Given the description of an element on the screen output the (x, y) to click on. 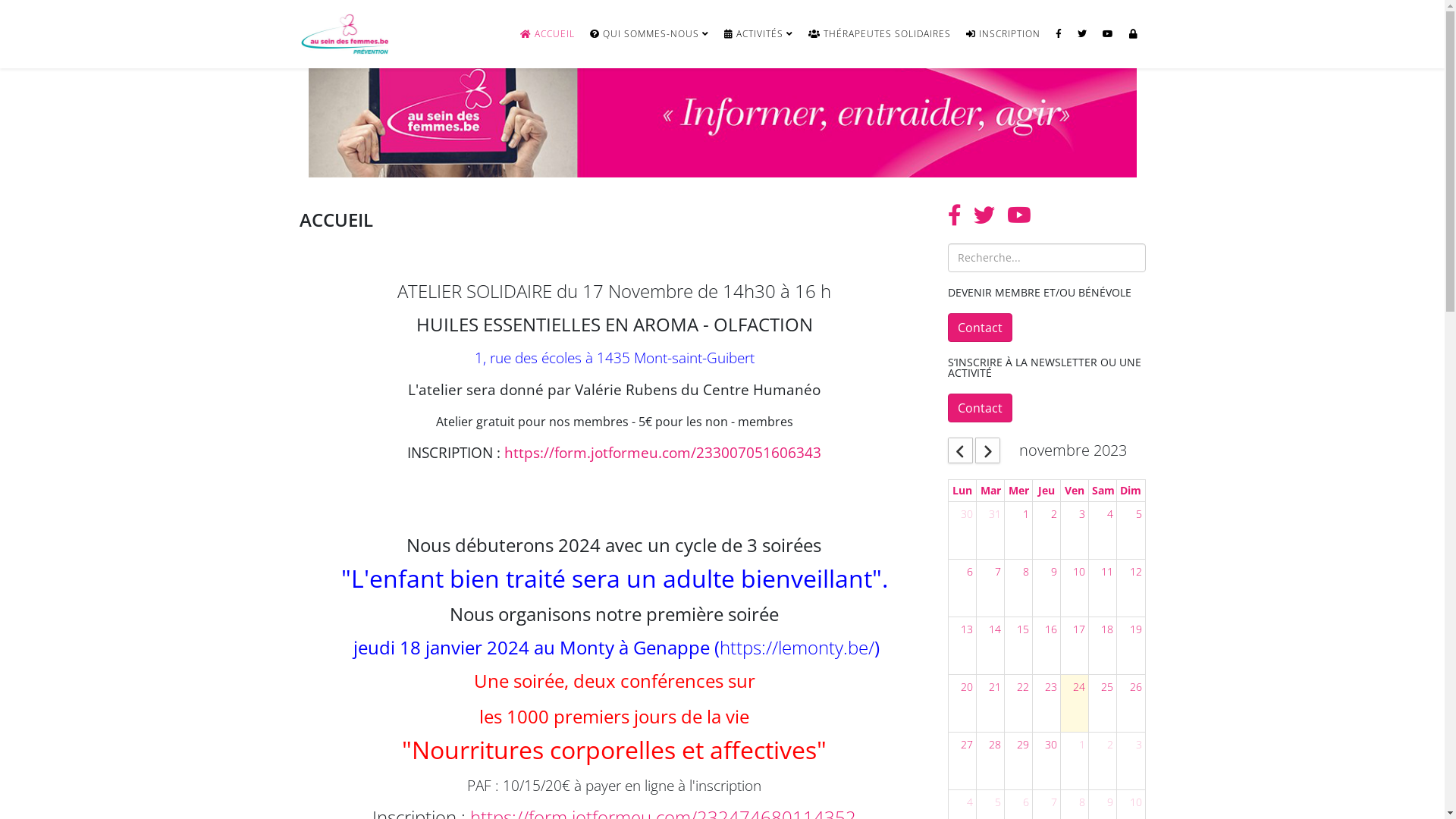
10 Element type: text (1079, 571)
5 Element type: text (997, 802)
22 Element type: text (1022, 686)
24 Element type: text (1079, 686)
https://lemonty.be/ Element type: text (796, 646)
13 Element type: text (966, 629)
1 Element type: text (1082, 744)
8 Element type: text (1025, 571)
6 Element type: text (1025, 802)
Mer Element type: text (1018, 490)
INSCRIPTION Element type: text (1003, 34)
5 Element type: text (1138, 514)
Contact Element type: text (979, 407)
Next Mois Element type: hover (987, 450)
4 Element type: text (1110, 514)
29 Element type: text (1022, 744)
23 Element type: text (1050, 686)
27 Element type: text (966, 744)
21 Element type: text (994, 686)
Sam Element type: text (1102, 490)
19 Element type: text (1135, 629)
31 Element type: text (994, 514)
9 Element type: text (1054, 571)
8 Element type: text (1082, 802)
26 Element type: text (1135, 686)
10 Element type: text (1135, 802)
4 Element type: text (969, 802)
ACCUEIL Element type: text (547, 34)
16 Element type: text (1050, 629)
14 Element type: text (994, 629)
Previous Mois Element type: hover (959, 450)
https://form.jotformeu.com/233007051606343 Element type: text (662, 451)
17 Element type: text (1079, 629)
11 Element type: text (1107, 571)
Dim Element type: text (1130, 490)
7 Element type: text (997, 571)
Contact Element type: text (979, 327)
12 Element type: text (1135, 571)
25 Element type: text (1107, 686)
18 Element type: text (1107, 629)
3 Element type: text (1138, 744)
30 Element type: text (1050, 744)
QUI SOMMES-NOUS Element type: text (649, 34)
9 Element type: text (1110, 802)
1 Element type: text (1025, 514)
2 Element type: text (1110, 744)
20 Element type: text (966, 686)
30 Element type: text (966, 514)
Ven Element type: text (1074, 490)
2 Element type: text (1054, 514)
Lun Element type: text (962, 490)
15 Element type: text (1022, 629)
28 Element type: text (994, 744)
7 Element type: text (1054, 802)
3 Element type: text (1082, 514)
6 Element type: text (969, 571)
Jeu Element type: text (1046, 490)
Mar Element type: text (989, 490)
